Given the description of an element on the screen output the (x, y) to click on. 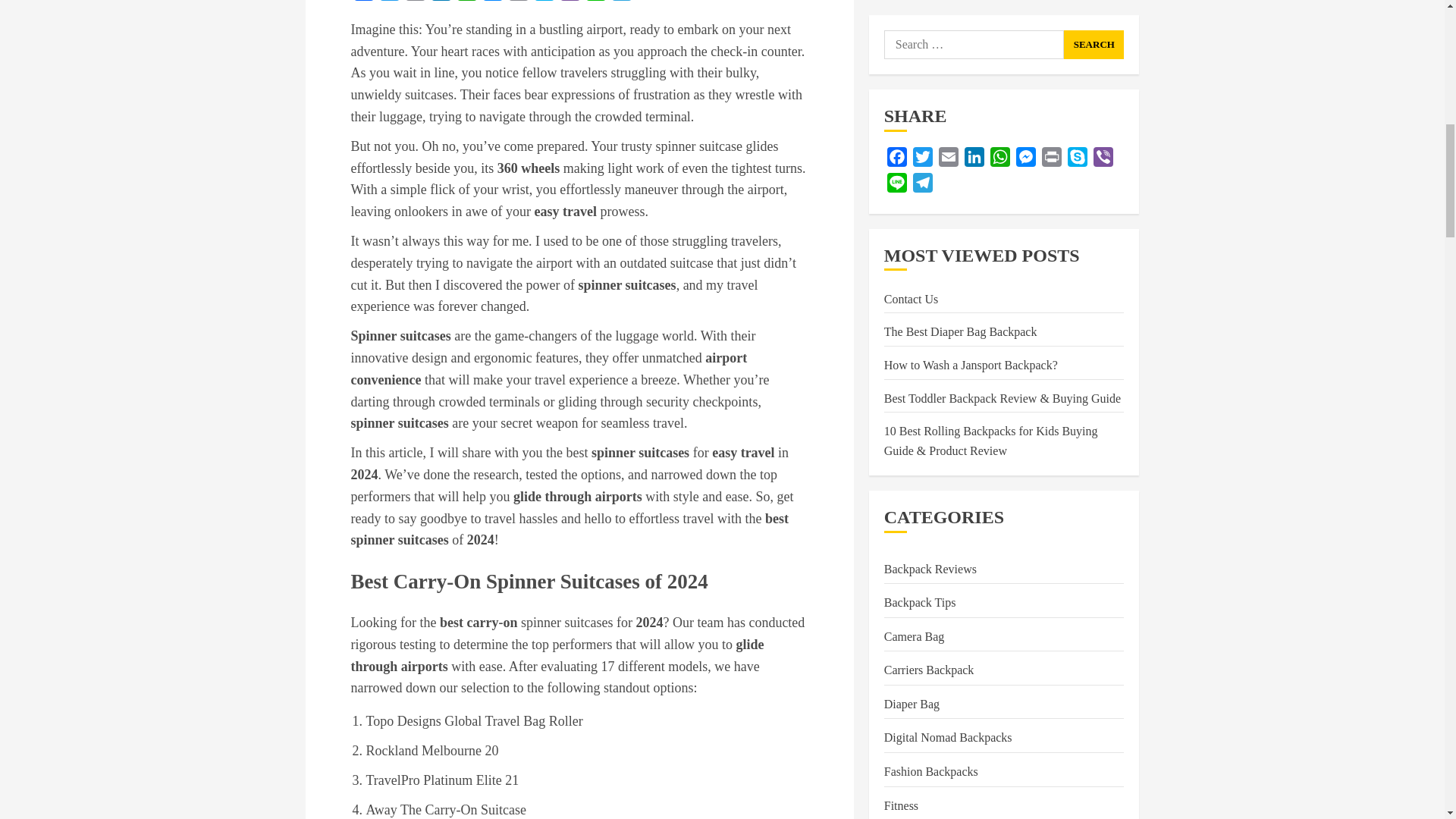
Messenger (492, 3)
Email (414, 3)
Print (518, 3)
Email (414, 3)
Skype (543, 3)
Skype (543, 3)
Facebook (362, 3)
Telegram (620, 3)
LinkedIn (440, 3)
Twitter (388, 3)
Twitter (388, 3)
Messenger (492, 3)
Viber (569, 3)
Viber (569, 3)
Print (518, 3)
